Given the description of an element on the screen output the (x, y) to click on. 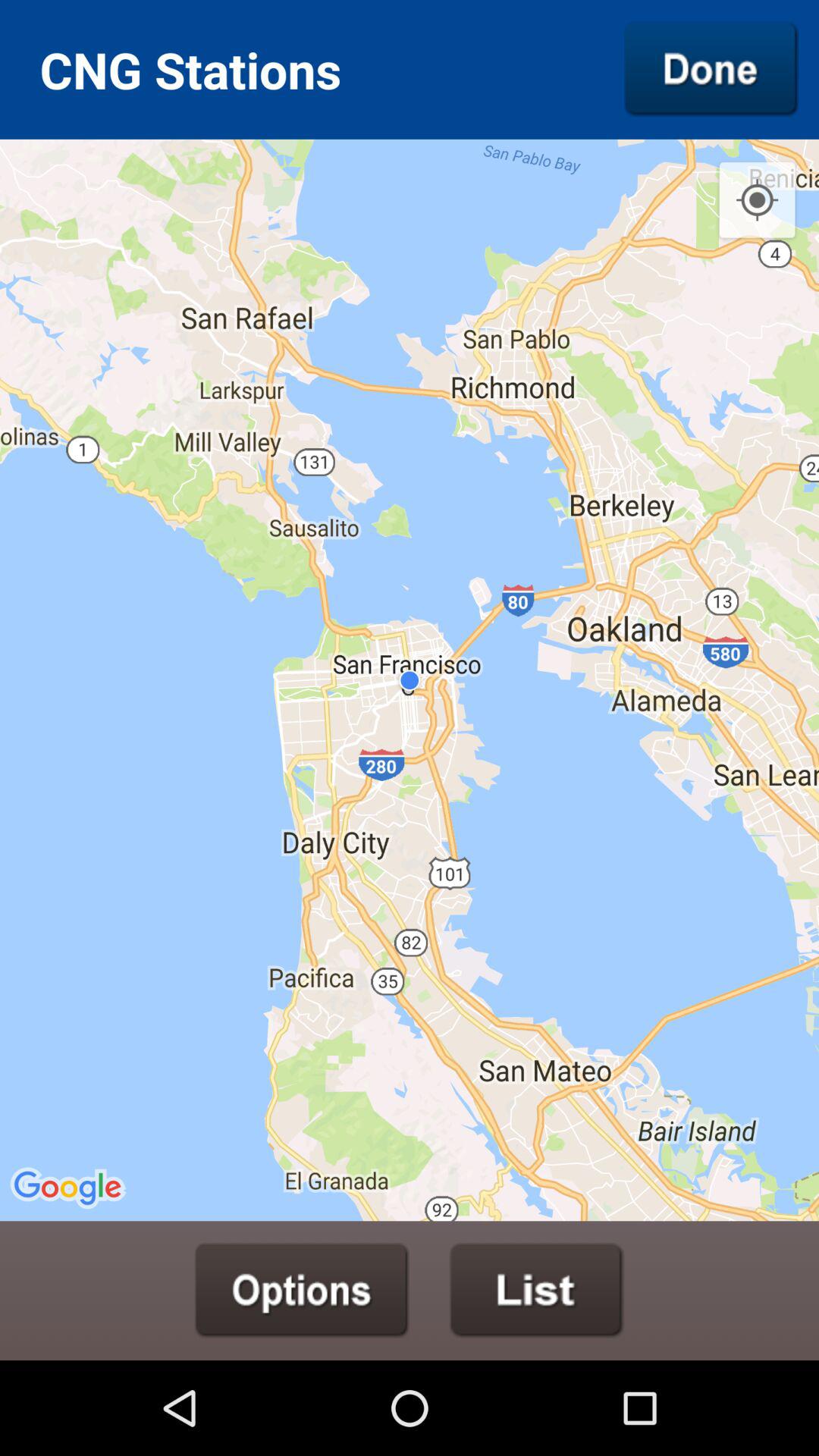
finish button (711, 69)
